Given the description of an element on the screen output the (x, y) to click on. 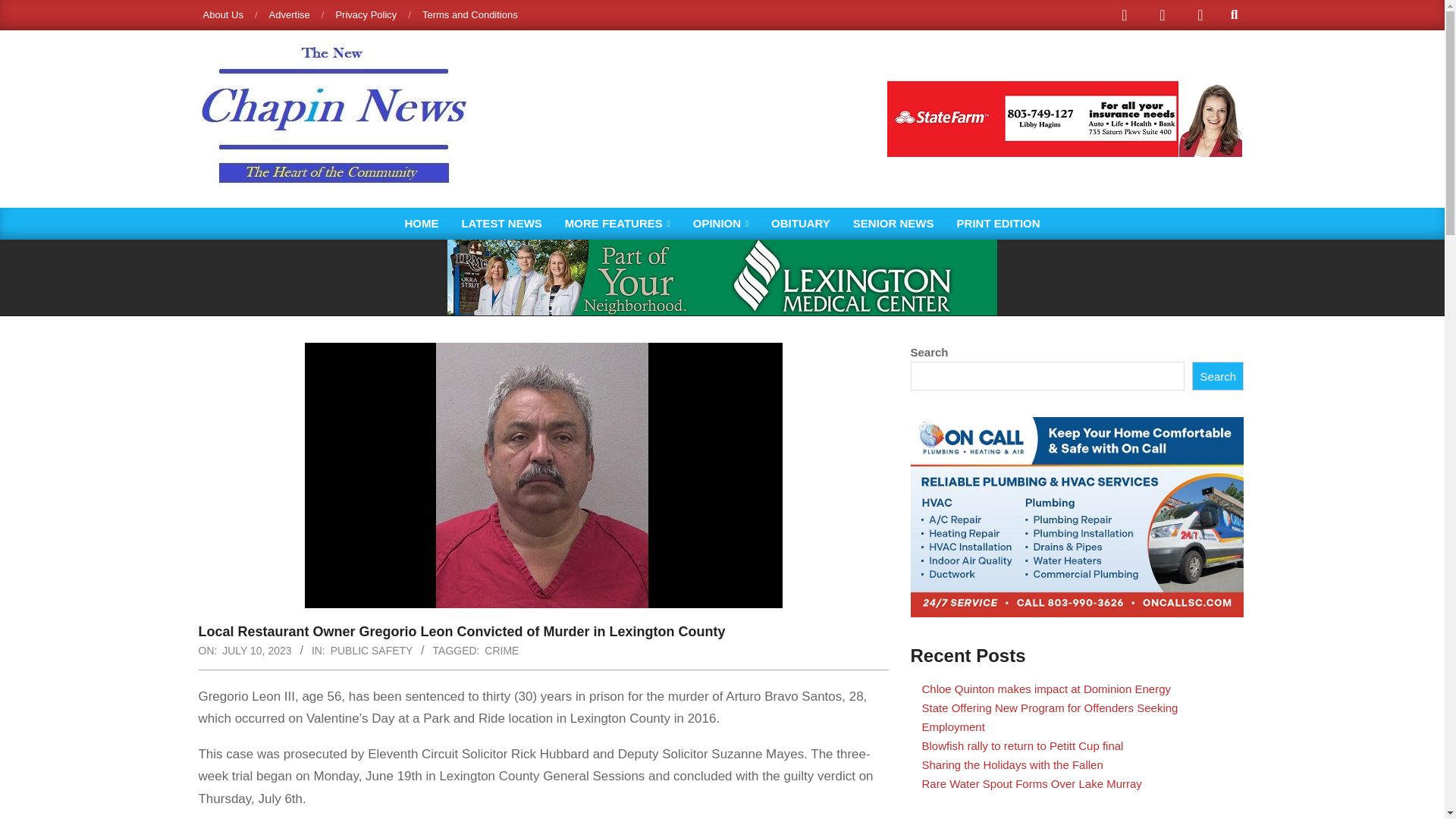
Monday, July 10, 2023, 5:12 pm (256, 650)
CRIME (501, 650)
Chloe Quinton makes impact at Dominion Energy (1046, 688)
Search (24, 9)
Terms and Conditions (470, 14)
OPINION (720, 223)
Search (1217, 375)
SENIOR NEWS (892, 223)
MORE FEATURES (617, 223)
HOME (421, 223)
